Given the description of an element on the screen output the (x, y) to click on. 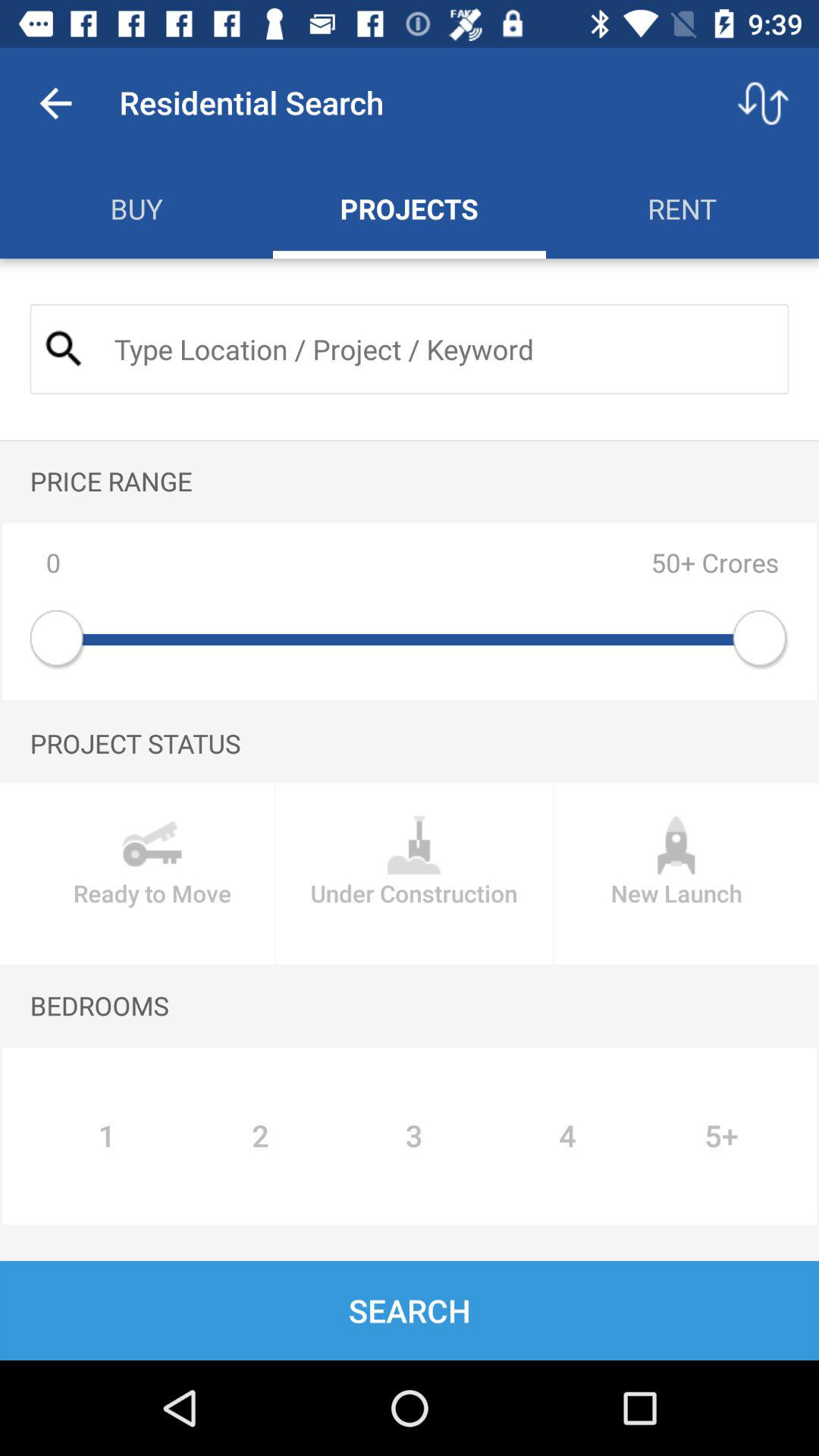
turn on the item below the bedrooms item (567, 1135)
